Given the description of an element on the screen output the (x, y) to click on. 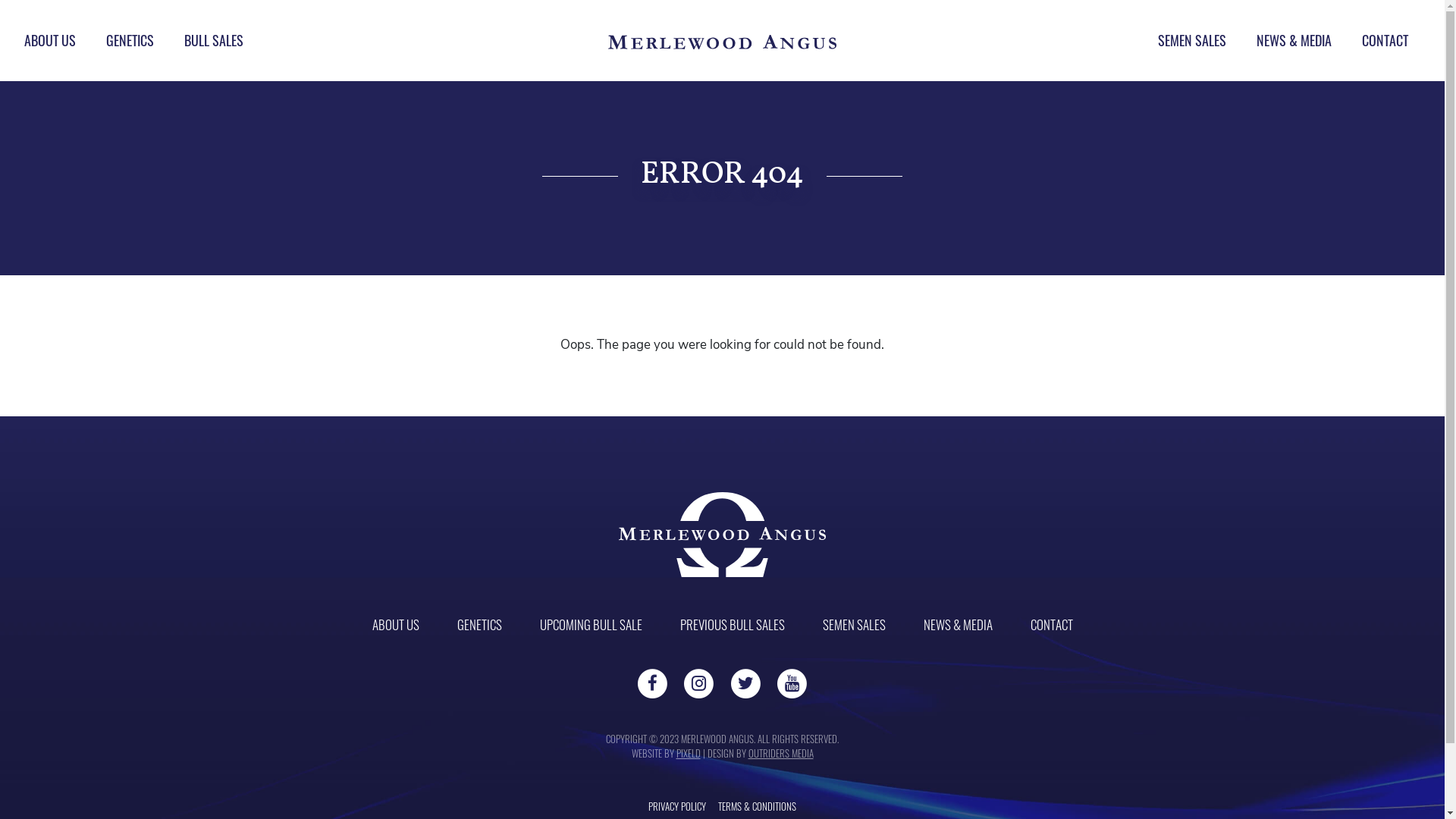
BULL SALES Element type: text (213, 40)
PRIVACY POLICY Element type: text (677, 805)
GENETICS Element type: text (478, 624)
SEMEN SALES Element type: text (1191, 40)
TERMS & CONDITIONS Element type: text (757, 805)
NEWS & MEDIA Element type: text (1293, 40)
NEWS & MEDIA Element type: text (957, 624)
ABOUT US Element type: text (394, 624)
OUTRIDERS MEDIA Element type: text (779, 752)
PIXELD Element type: text (688, 752)
ABOUT US Element type: text (50, 40)
SEMEN SALES Element type: text (853, 624)
PREVIOUS BULL SALES Element type: text (731, 624)
CONTACT Element type: text (1050, 624)
UPCOMING BULL SALE Element type: text (590, 624)
CONTACT Element type: text (1384, 40)
GENETICS Element type: text (130, 40)
